Given the description of an element on the screen output the (x, y) to click on. 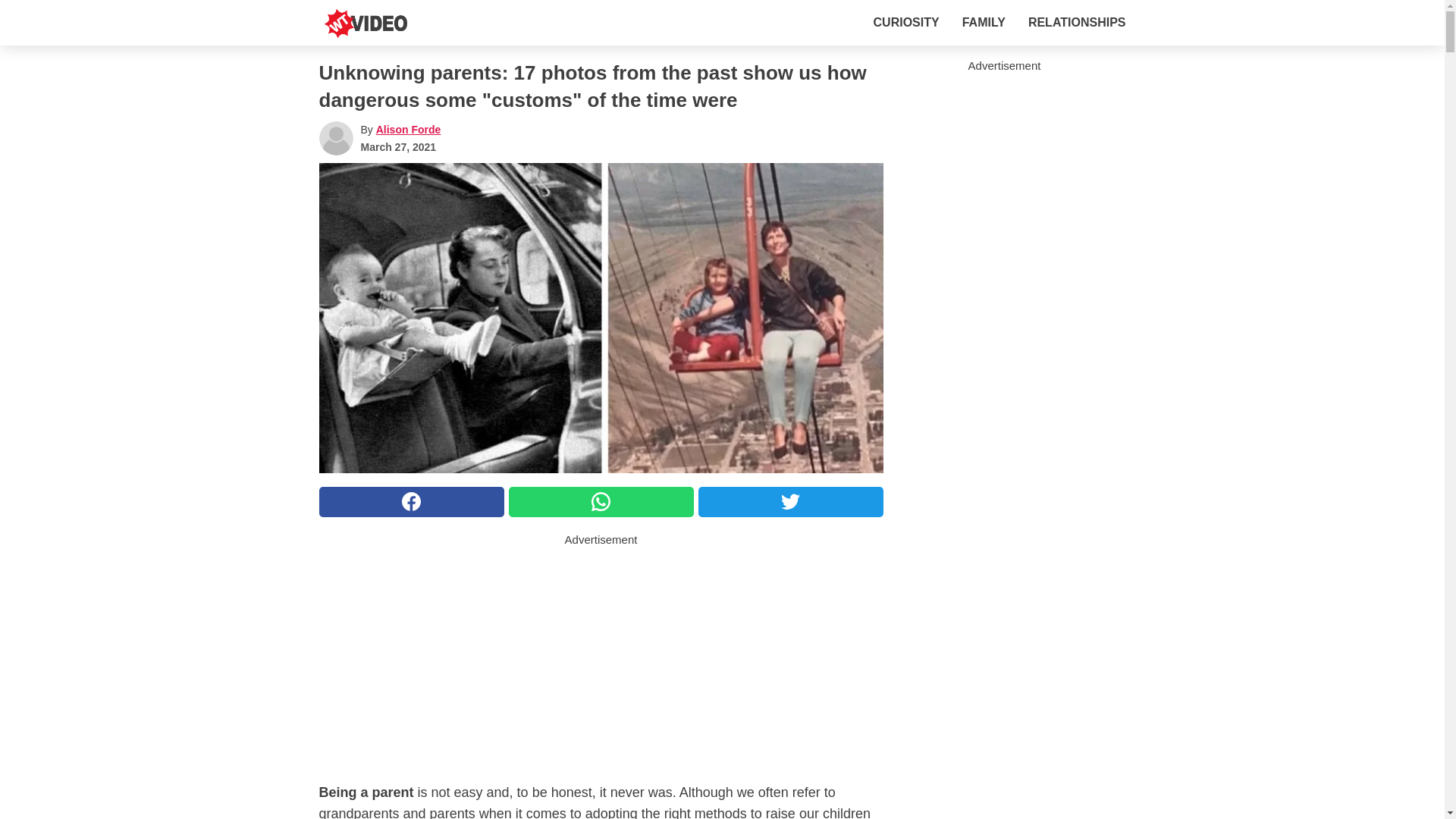
RELATIONSHIPS (1076, 22)
Alison Forde (408, 129)
CURIOSITY (906, 22)
FAMILY (984, 22)
